Given the description of an element on the screen output the (x, y) to click on. 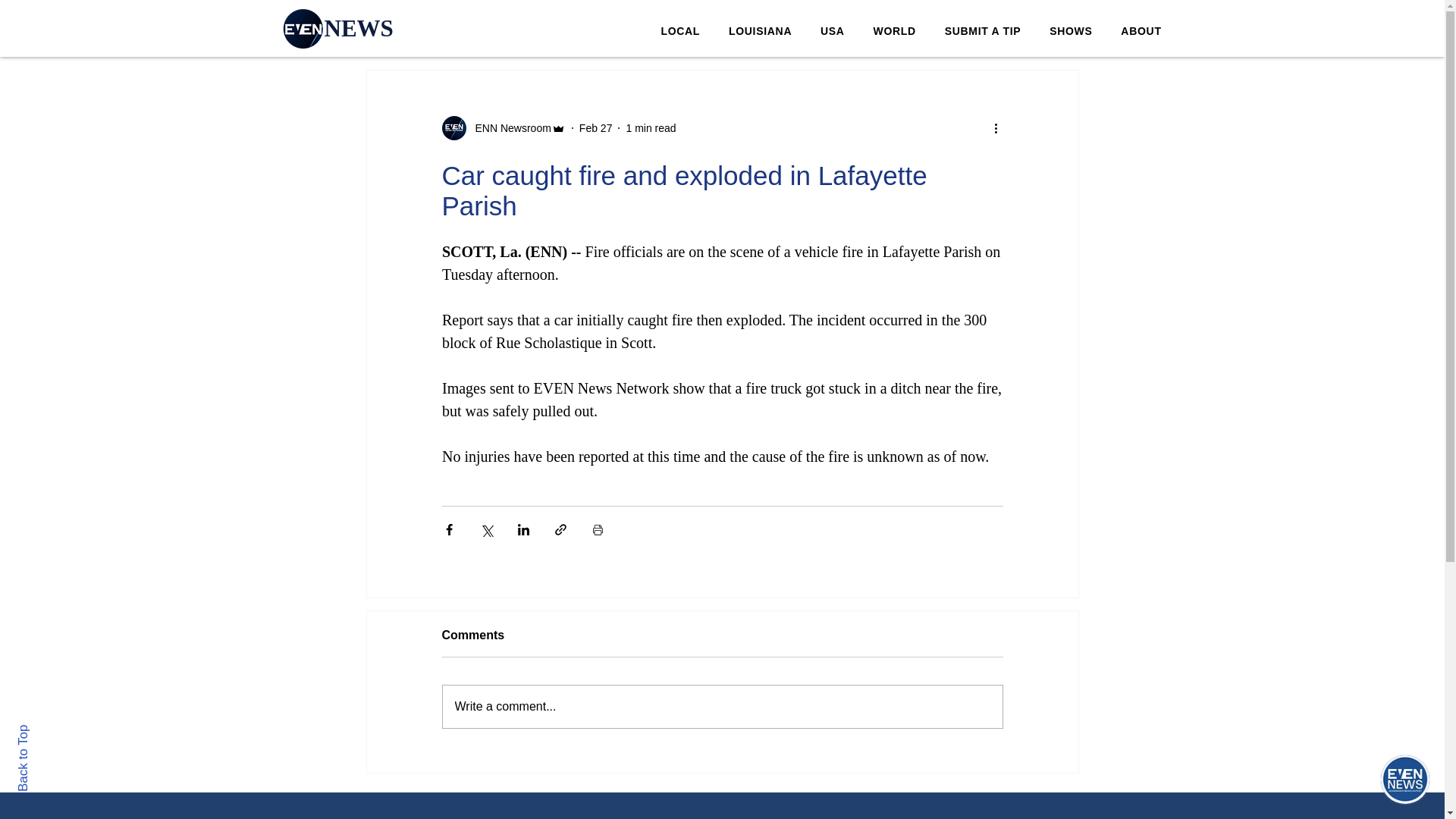
Feb 27 (595, 127)
SUBMIT A TIP (982, 31)
WORLD (894, 31)
USA (832, 31)
ENN Newsroom (502, 128)
ENN Newsroom (507, 127)
LOCAL (680, 31)
ABOUT (910, 31)
Write a comment... (1140, 31)
LOUISIANA (722, 706)
Back to Top (760, 31)
1 min read (49, 730)
